Given the description of an element on the screen output the (x, y) to click on. 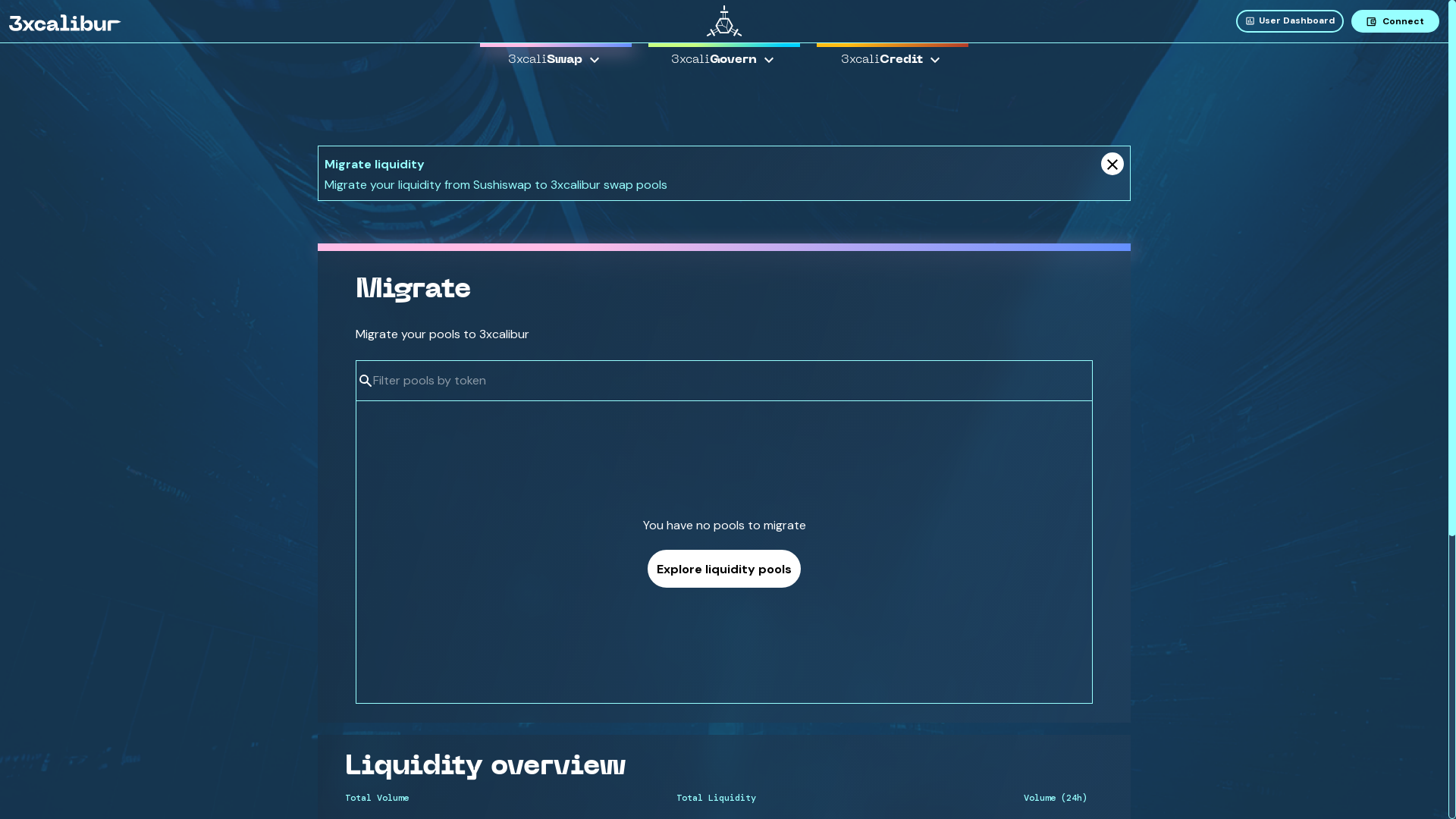
3xcaliSwap Element type: text (555, 58)
User Dashboard Element type: text (1293, 20)
3xcaliGovern Element type: text (723, 58)
3xcaliCredit Element type: text (892, 58)
